Given the description of an element on the screen output the (x, y) to click on. 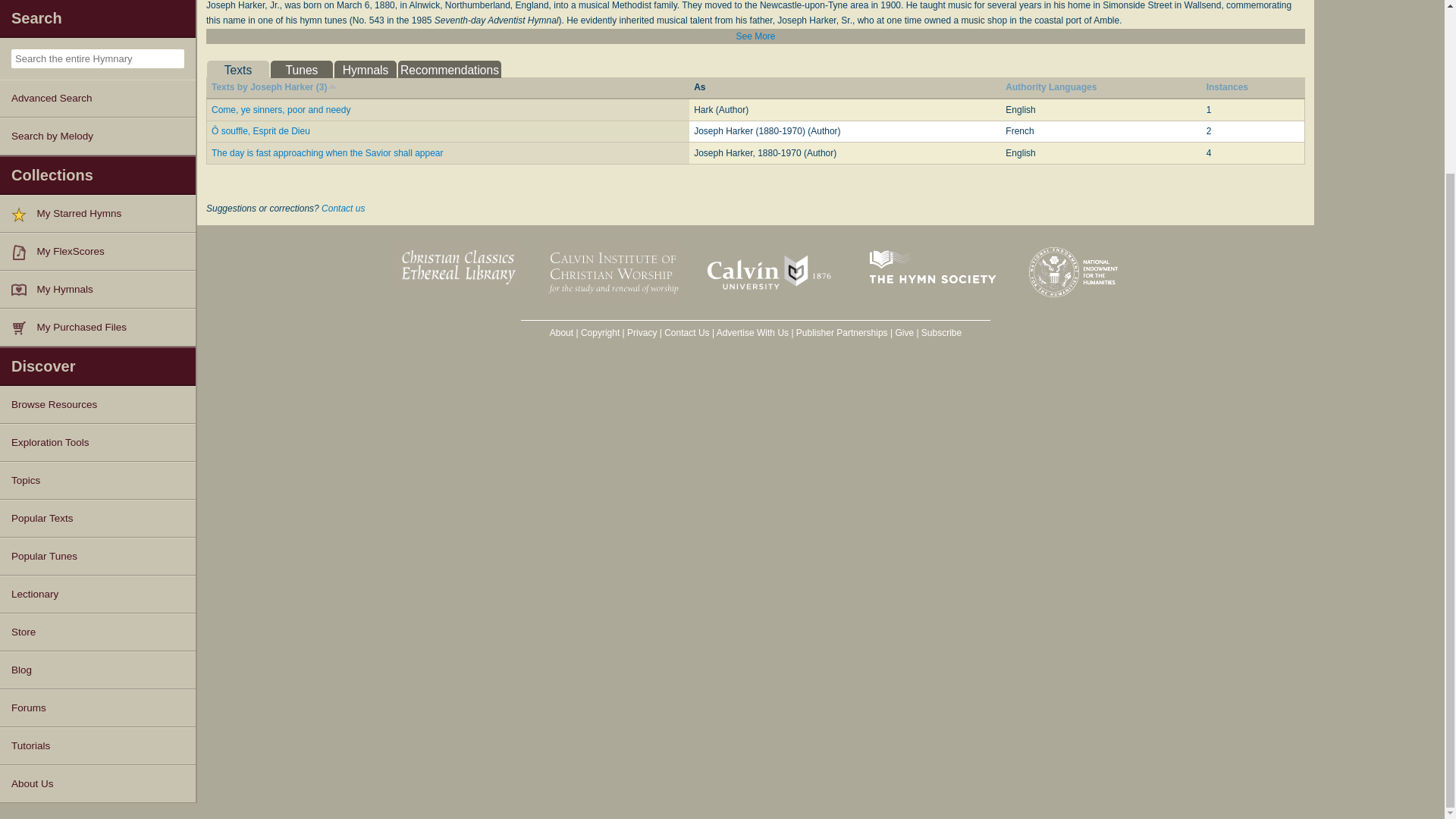
Click to expand (755, 36)
In my hymnals (24, 290)
Flexscore (24, 252)
Product (24, 328)
Advanced Search (97, 98)
